Given the description of an element on the screen output the (x, y) to click on. 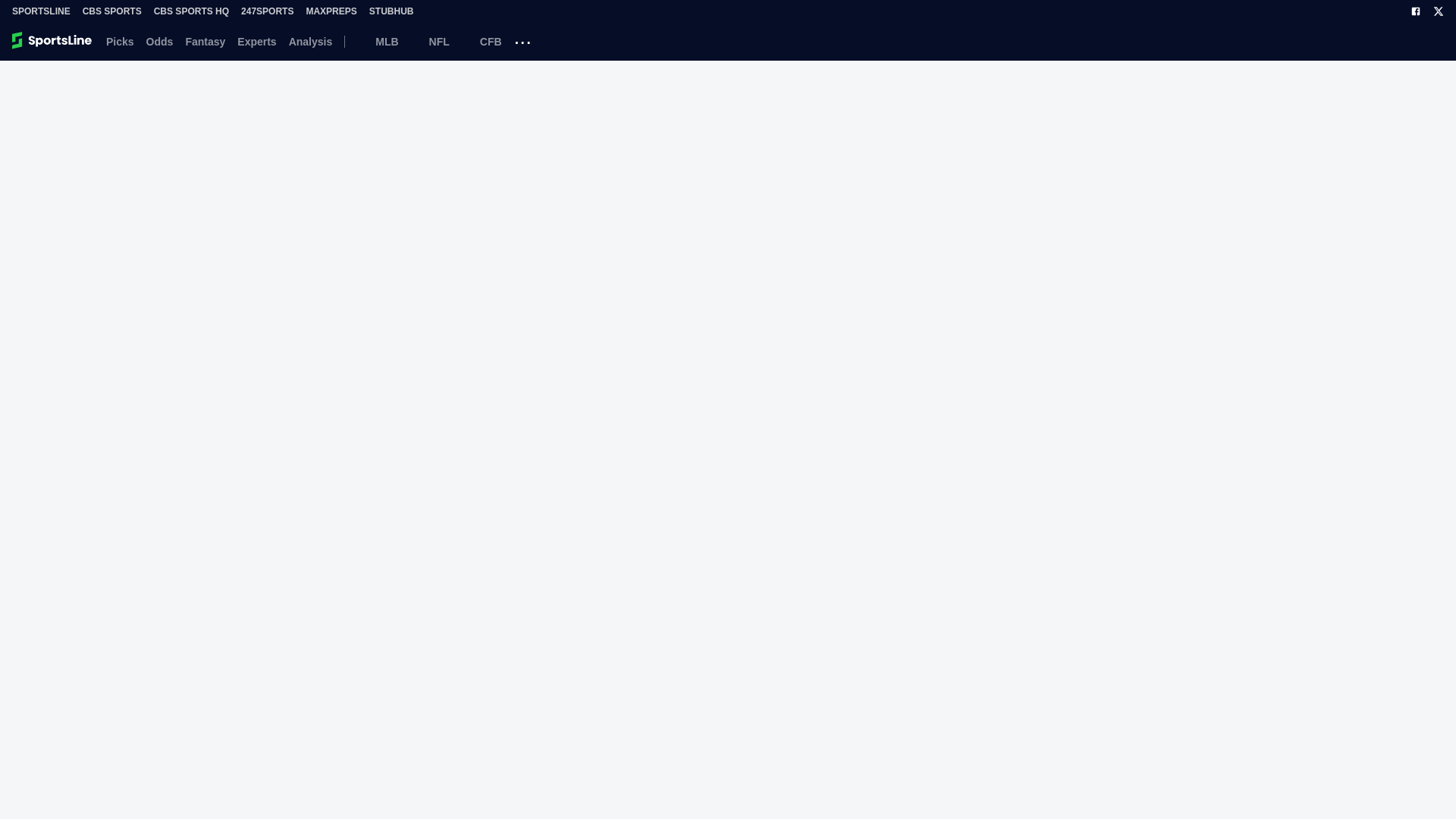
247Sports (267, 11)
247SPORTS (267, 11)
MAXPREPS (330, 11)
Fantasy (204, 41)
Experts (256, 41)
sportsline.com (52, 41)
SportsLine (40, 11)
MaxPreps (330, 11)
CBS SPORTS HQ (191, 11)
CBS Sports (111, 11)
